Given the description of an element on the screen output the (x, y) to click on. 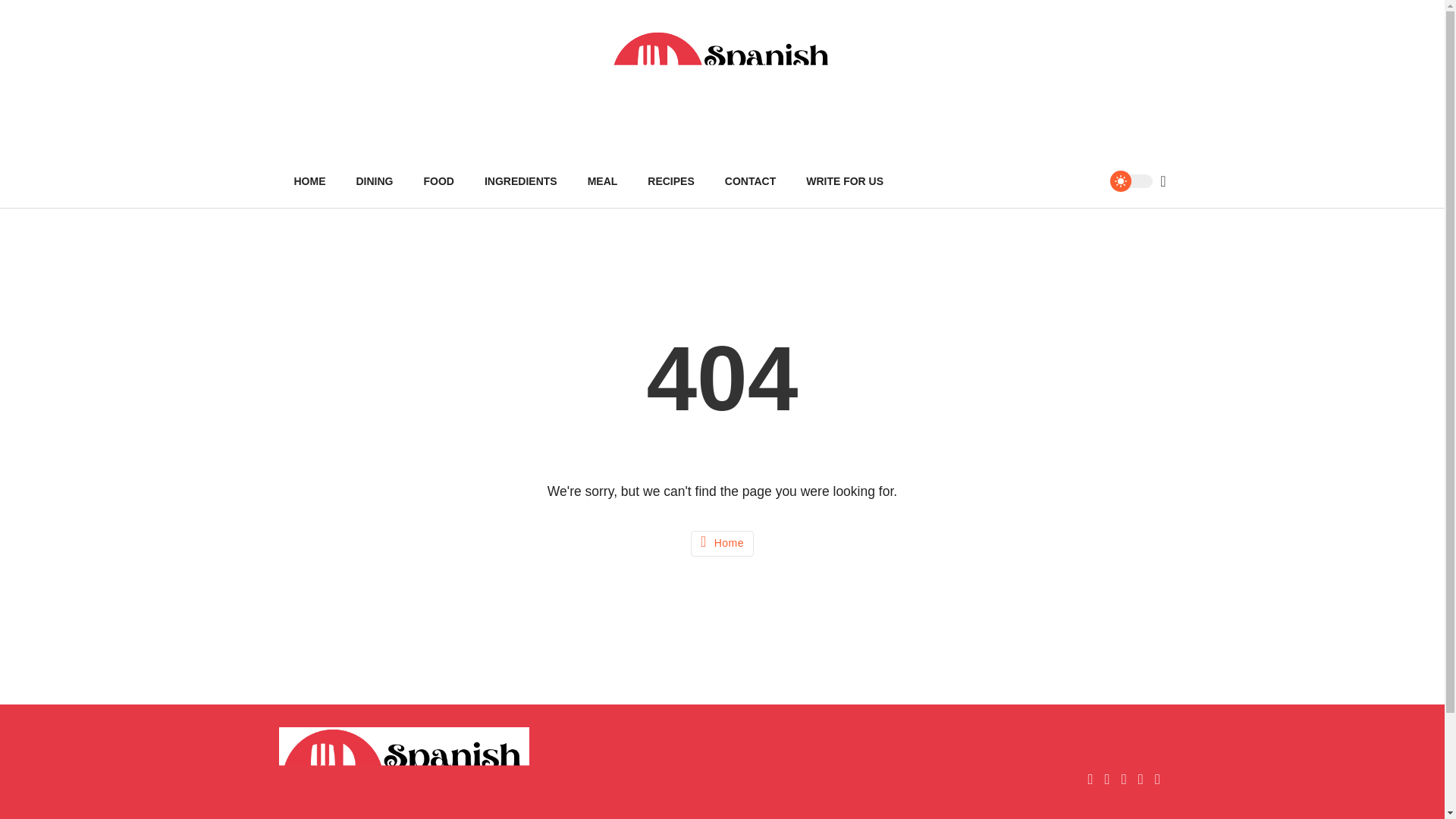
WRITE FOR US (844, 181)
MEAL (602, 181)
DINING (374, 181)
FOOD (437, 181)
Home (722, 543)
RECIPES (670, 181)
HOME (309, 181)
CONTACT (750, 181)
INGREDIENTS (520, 181)
